Given the description of an element on the screen output the (x, y) to click on. 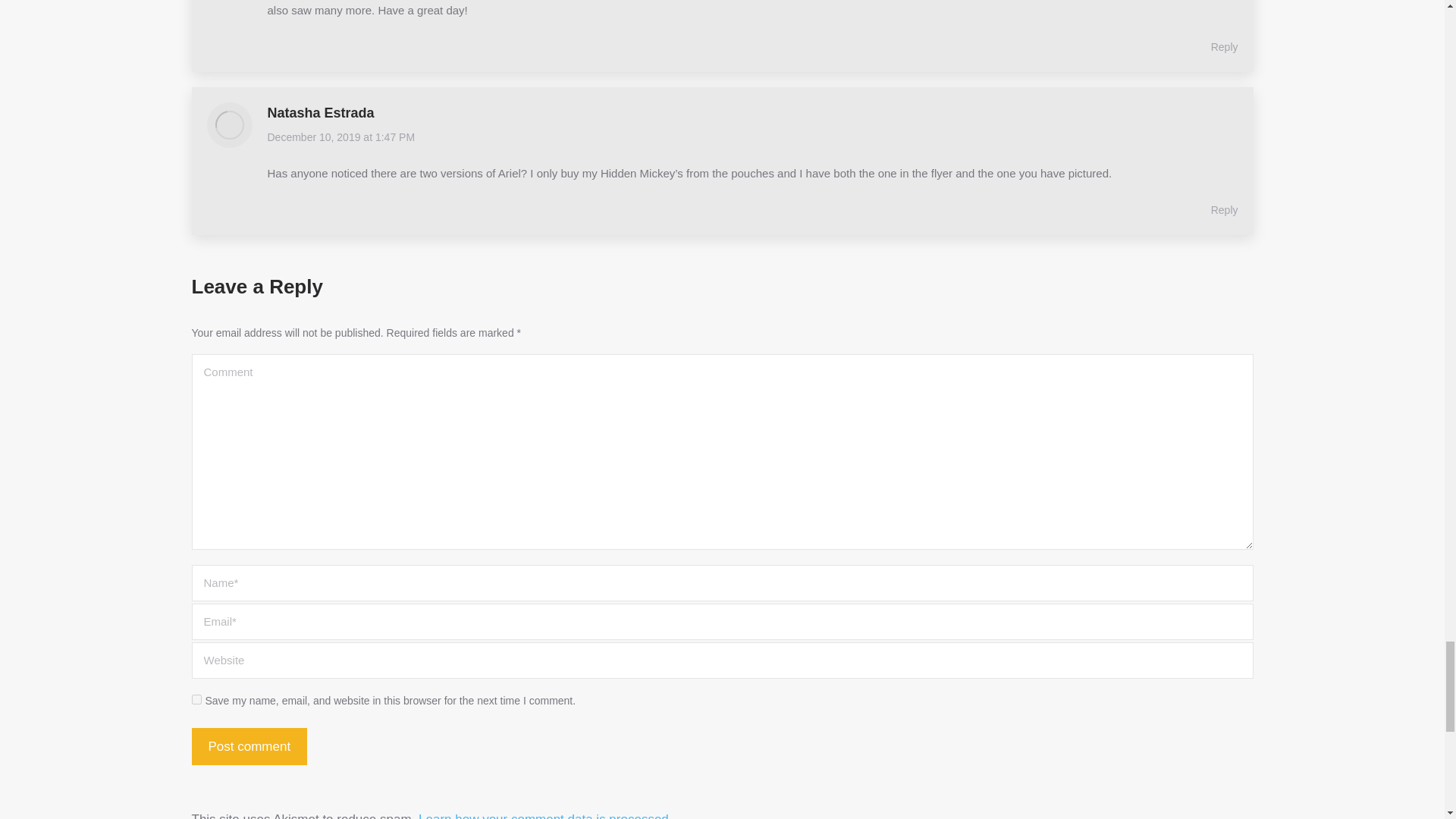
yes (195, 699)
